Given the description of an element on the screen output the (x, y) to click on. 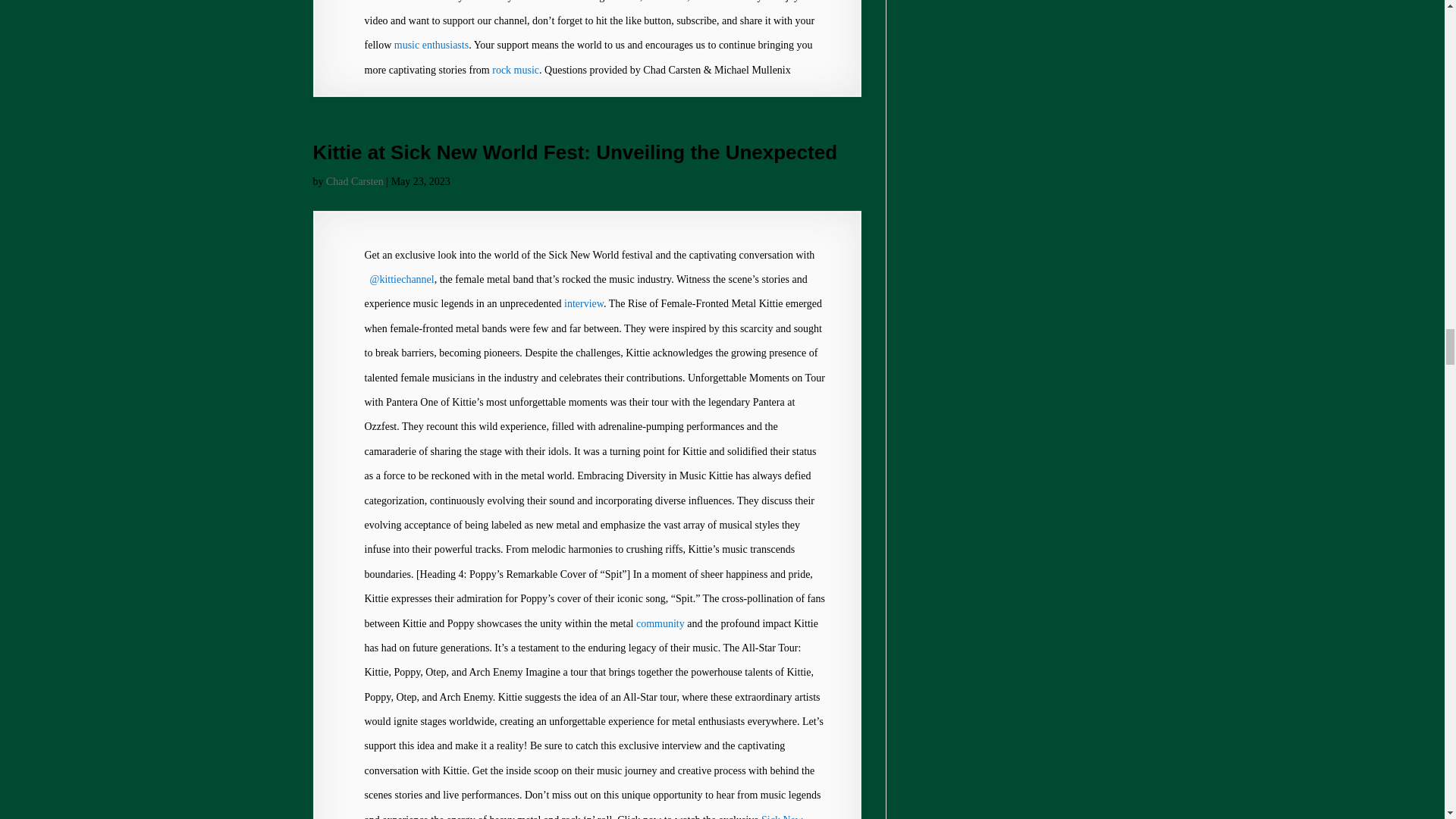
Give Aways (660, 623)
Posts by Chad Carsten (355, 181)
Ultimate Pizza Giveaway for the Pit Crew Members (431, 44)
